Given the description of an element on the screen output the (x, y) to click on. 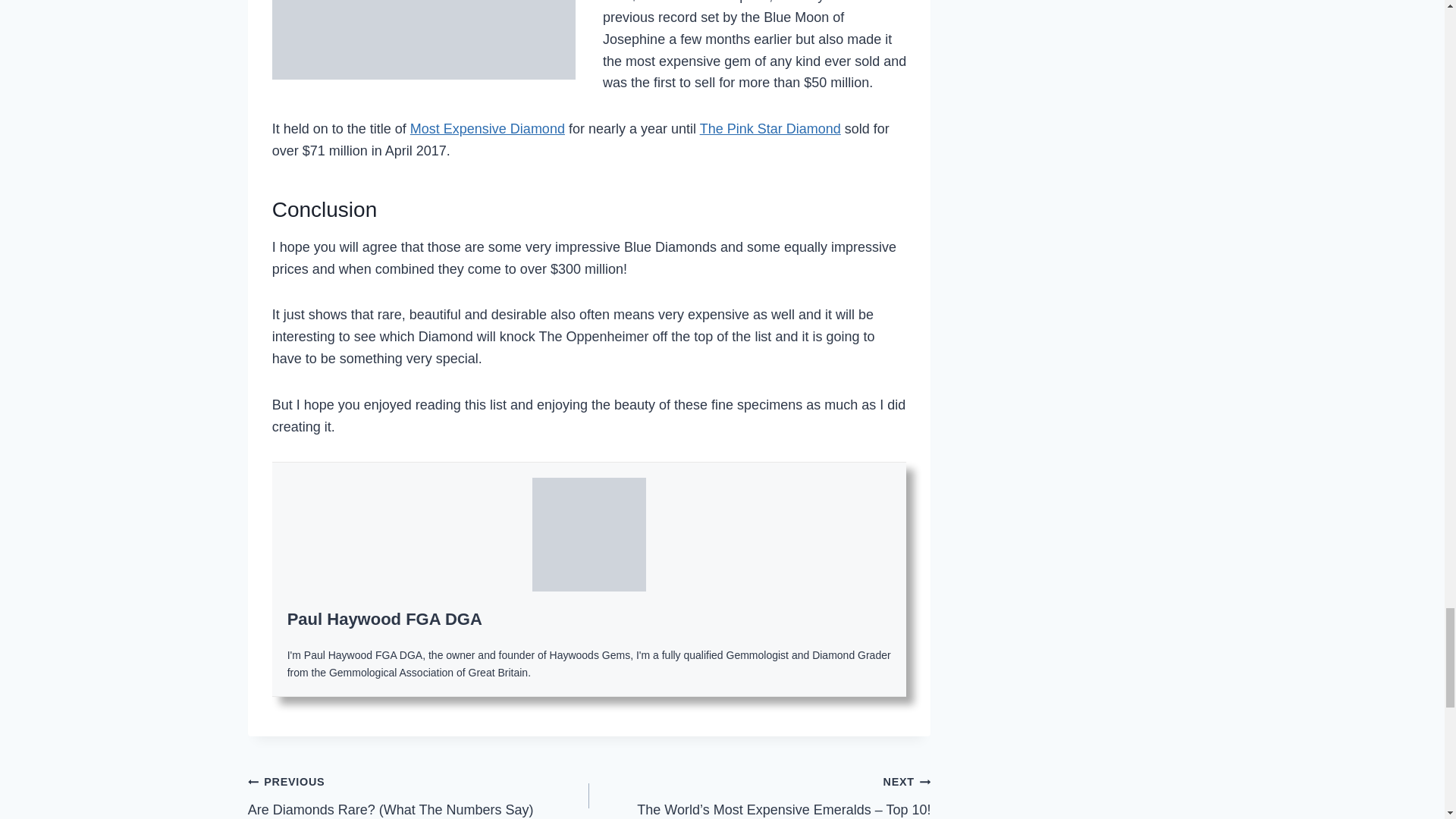
Paul Haywood FGA DGA (383, 618)
Most Expensive Diamond (487, 128)
The Pink Star Diamond (770, 128)
